Given the description of an element on the screen output the (x, y) to click on. 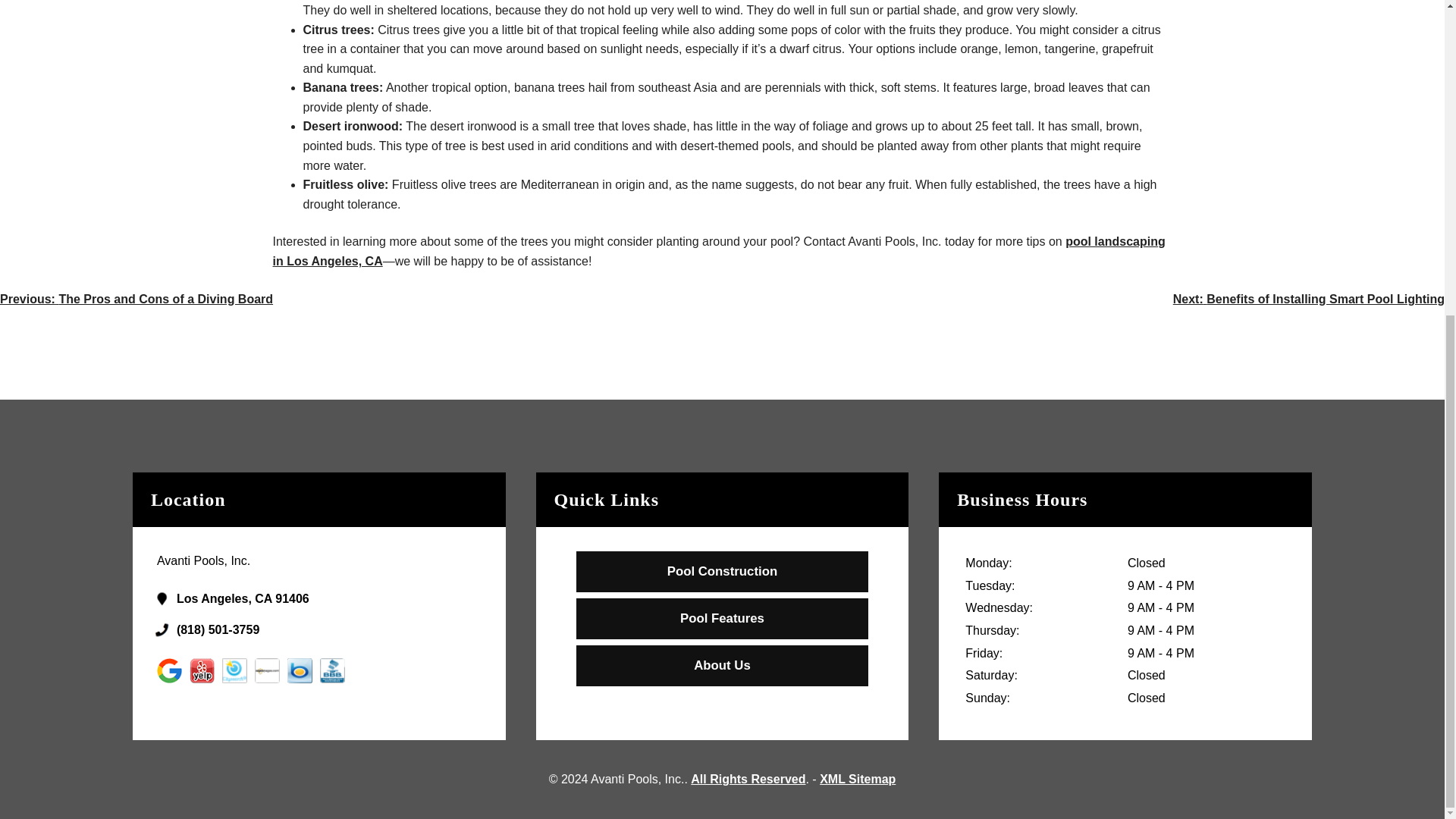
pool landscaping in Los Angeles, CA (719, 251)
Previous: The Pros and Cons of a Diving Board (136, 298)
Google Listing (334, 598)
Los Angeles, CA 91406 (334, 598)
Pool Features (721, 618)
about us (721, 665)
Call Today (334, 629)
Terms and Conditions (747, 779)
